Given the description of an element on the screen output the (x, y) to click on. 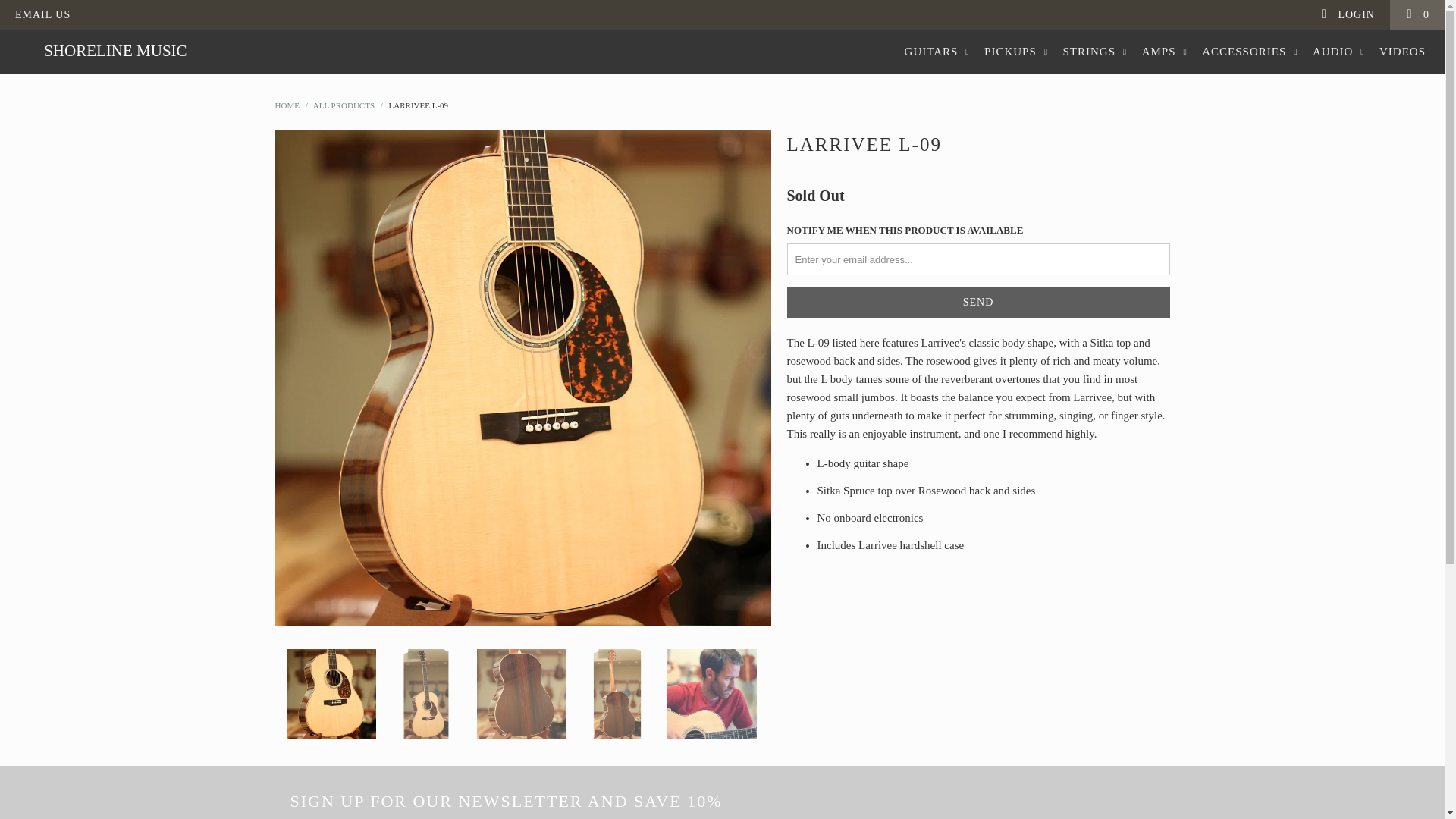
All Products (343, 104)
Send (978, 302)
Shoreline Music (286, 104)
Shoreline Music (115, 51)
My Account  (1347, 15)
